Given the description of an element on the screen output the (x, y) to click on. 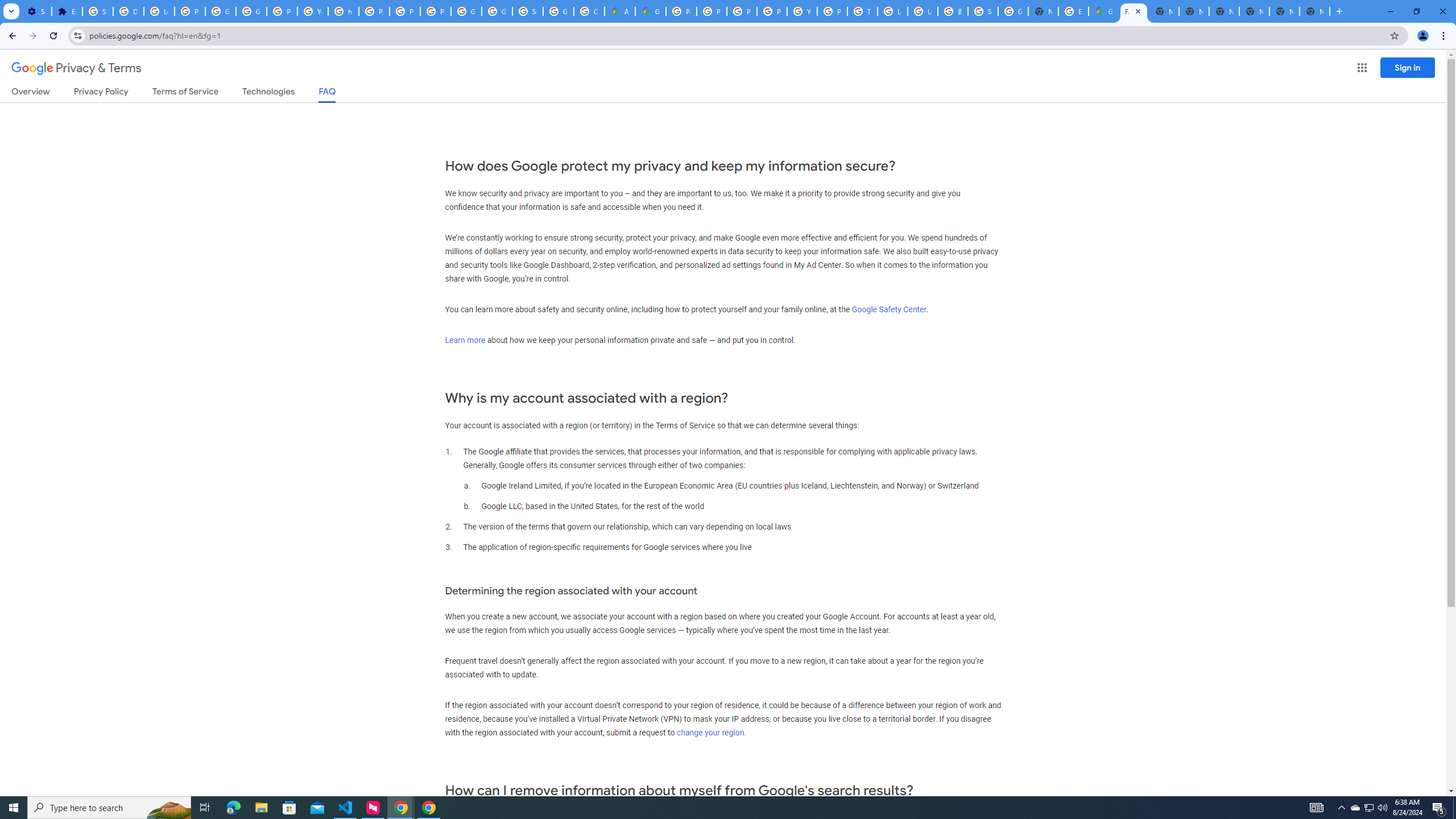
Google Safety Center (888, 309)
Privacy & Terms (76, 68)
Sign in - Google Accounts (97, 11)
New Tab (1042, 11)
